Given the description of an element on the screen output the (x, y) to click on. 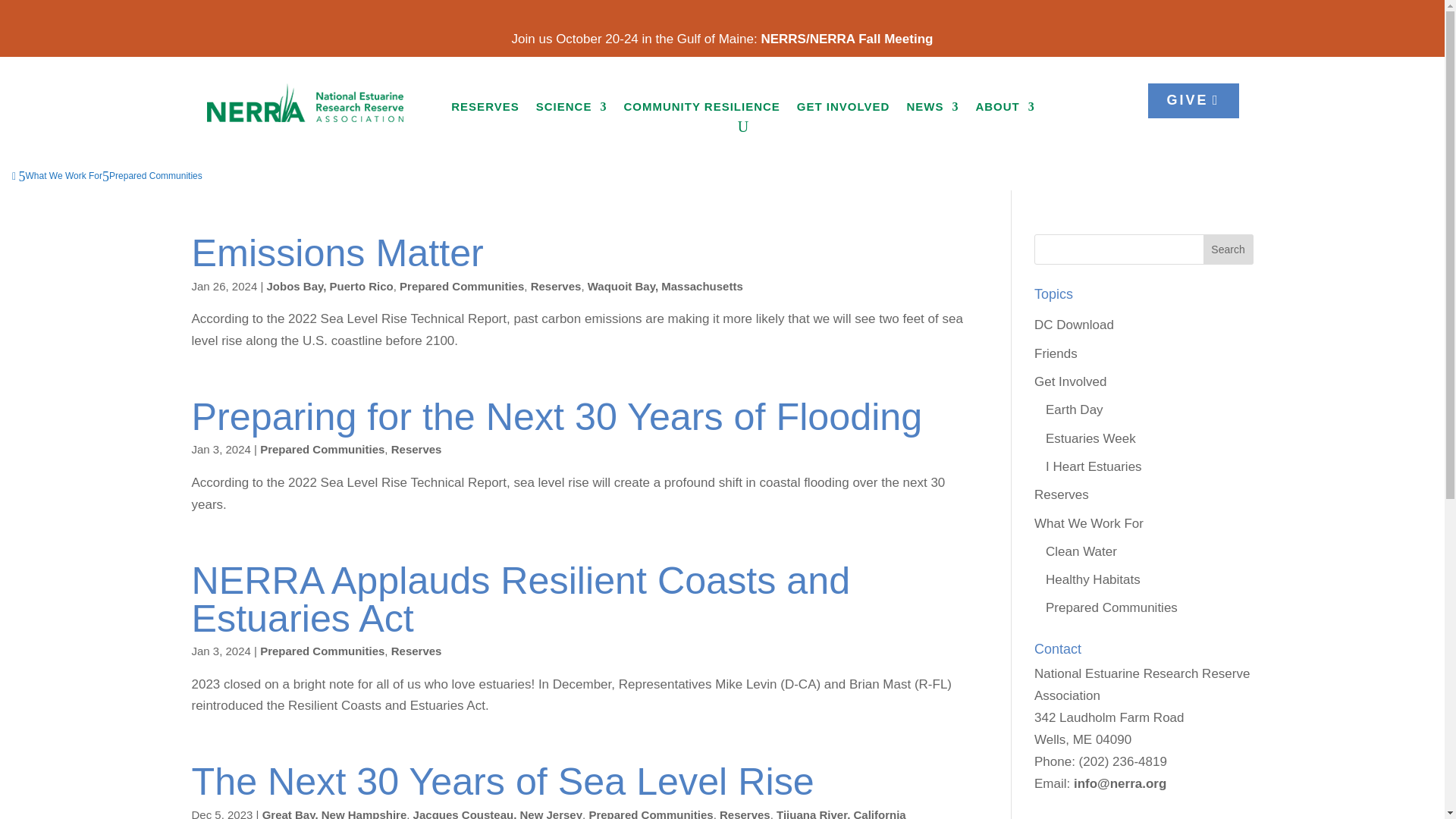
NEWS (931, 109)
GET INVOLVED (842, 109)
Search (1228, 249)
SCIENCE (571, 109)
NERRA logo (304, 102)
COMMUNITY RESILIENCE (700, 109)
ABOUT (1004, 109)
RESERVES (484, 109)
